Given the description of an element on the screen output the (x, y) to click on. 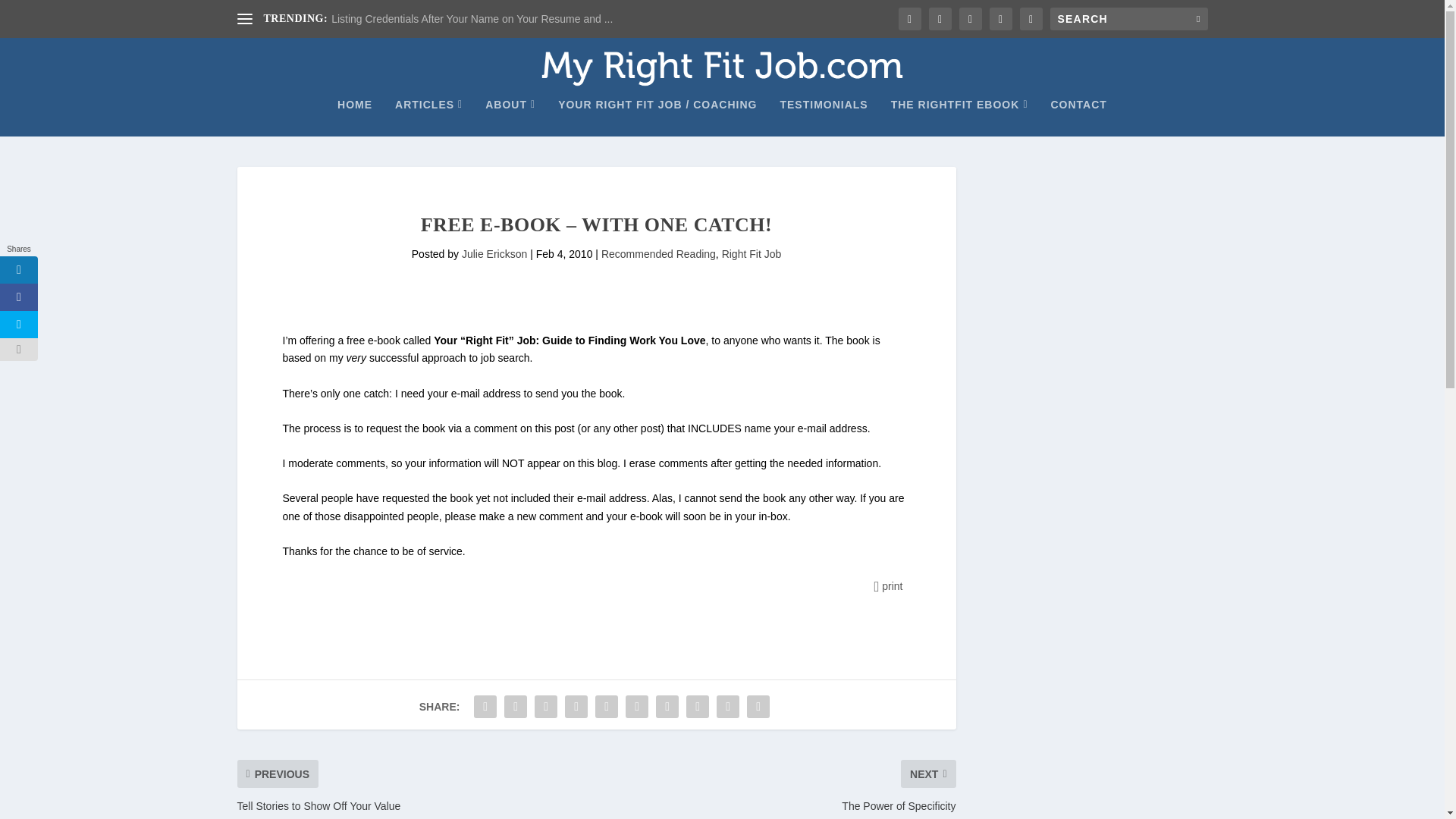
TESTIMONIALS (822, 117)
Posts by Julie Erickson (494, 254)
THE RIGHTFIT EBOOK (959, 117)
Recommended Reading (658, 254)
Right Fit Job (751, 254)
HOME (354, 117)
Julie Erickson (494, 254)
Search for: (1128, 18)
CONTACT (1078, 117)
ABOUT (509, 117)
